Given the description of an element on the screen output the (x, y) to click on. 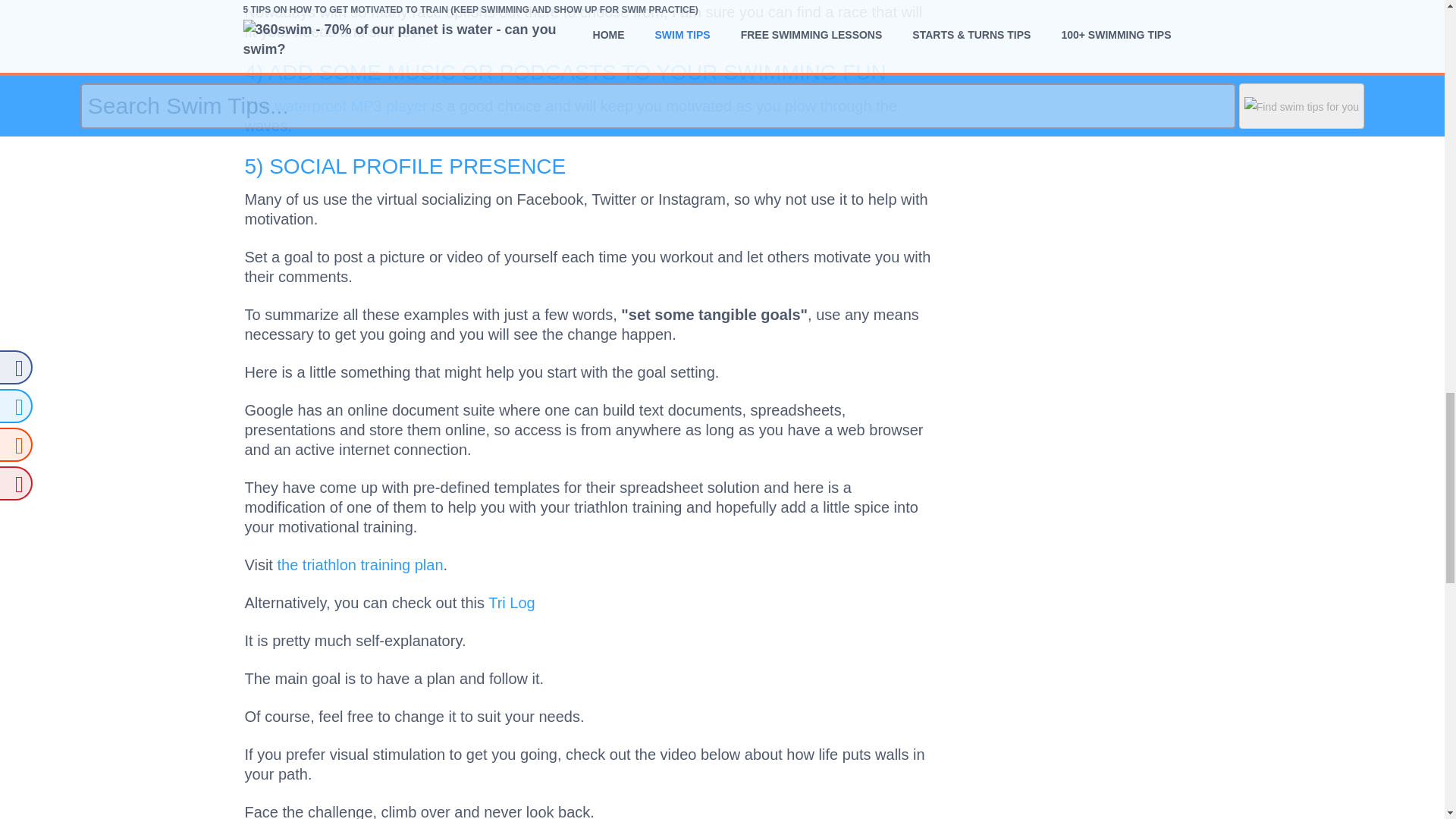
the triathlon training plan (359, 564)
Tri Log (511, 602)
waterproof MP3 player (351, 105)
